Given the description of an element on the screen output the (x, y) to click on. 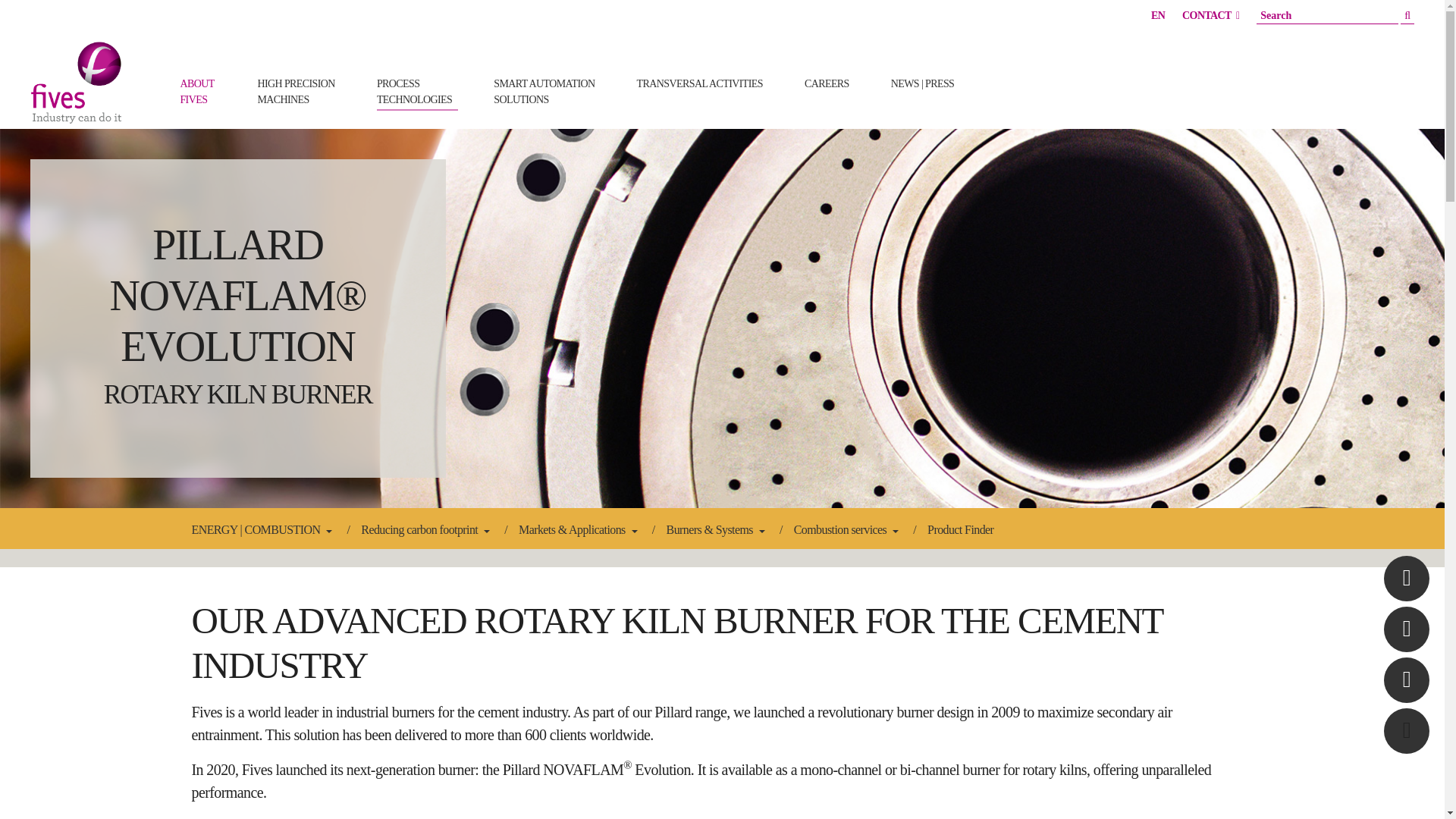
EN (199, 91)
CONTACT (417, 91)
English (1157, 15)
